Given the description of an element on the screen output the (x, y) to click on. 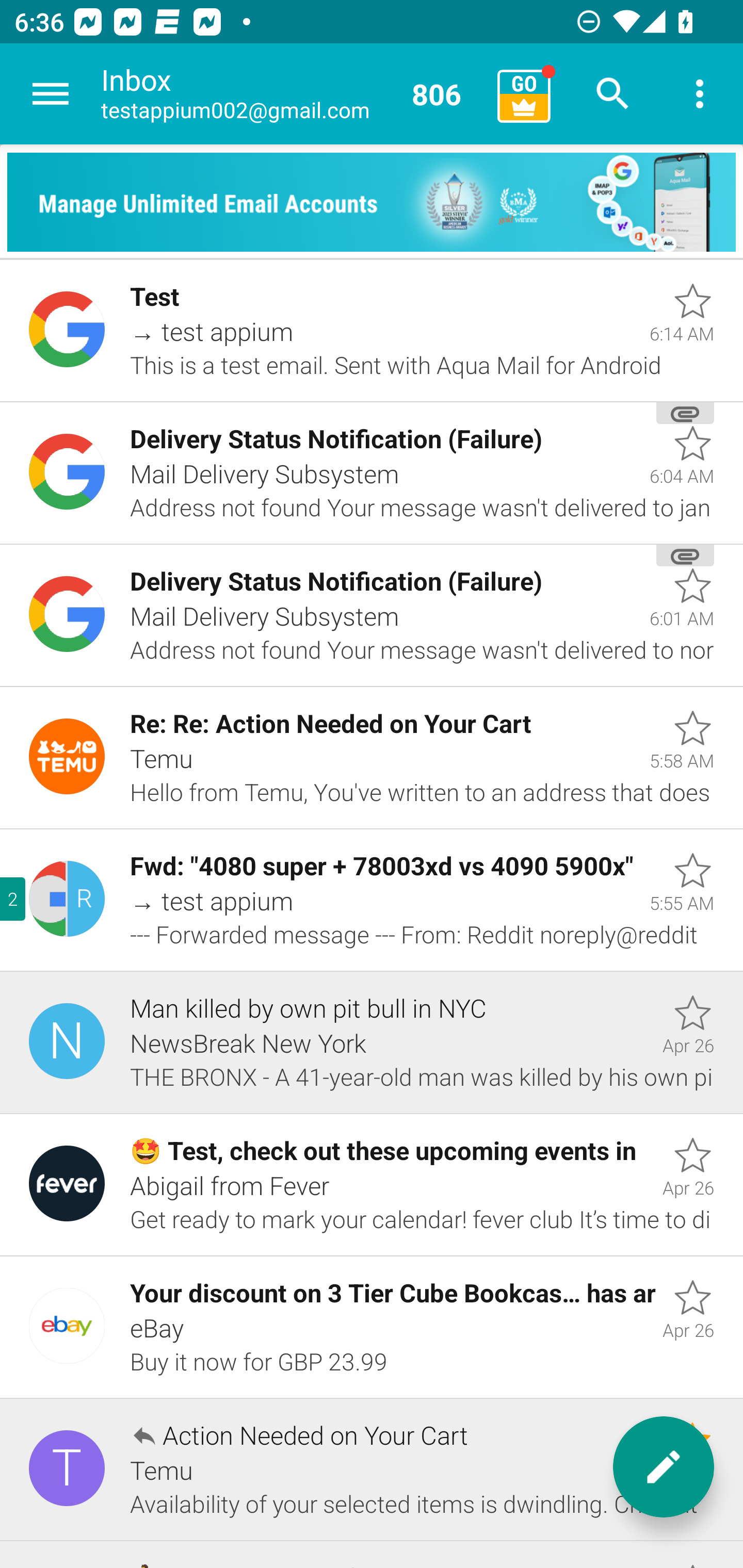
Navigate up (50, 93)
Inbox testappium002@gmail.com 806 (291, 93)
Search (612, 93)
More options (699, 93)
New message (663, 1466)
